Given the description of an element on the screen output the (x, y) to click on. 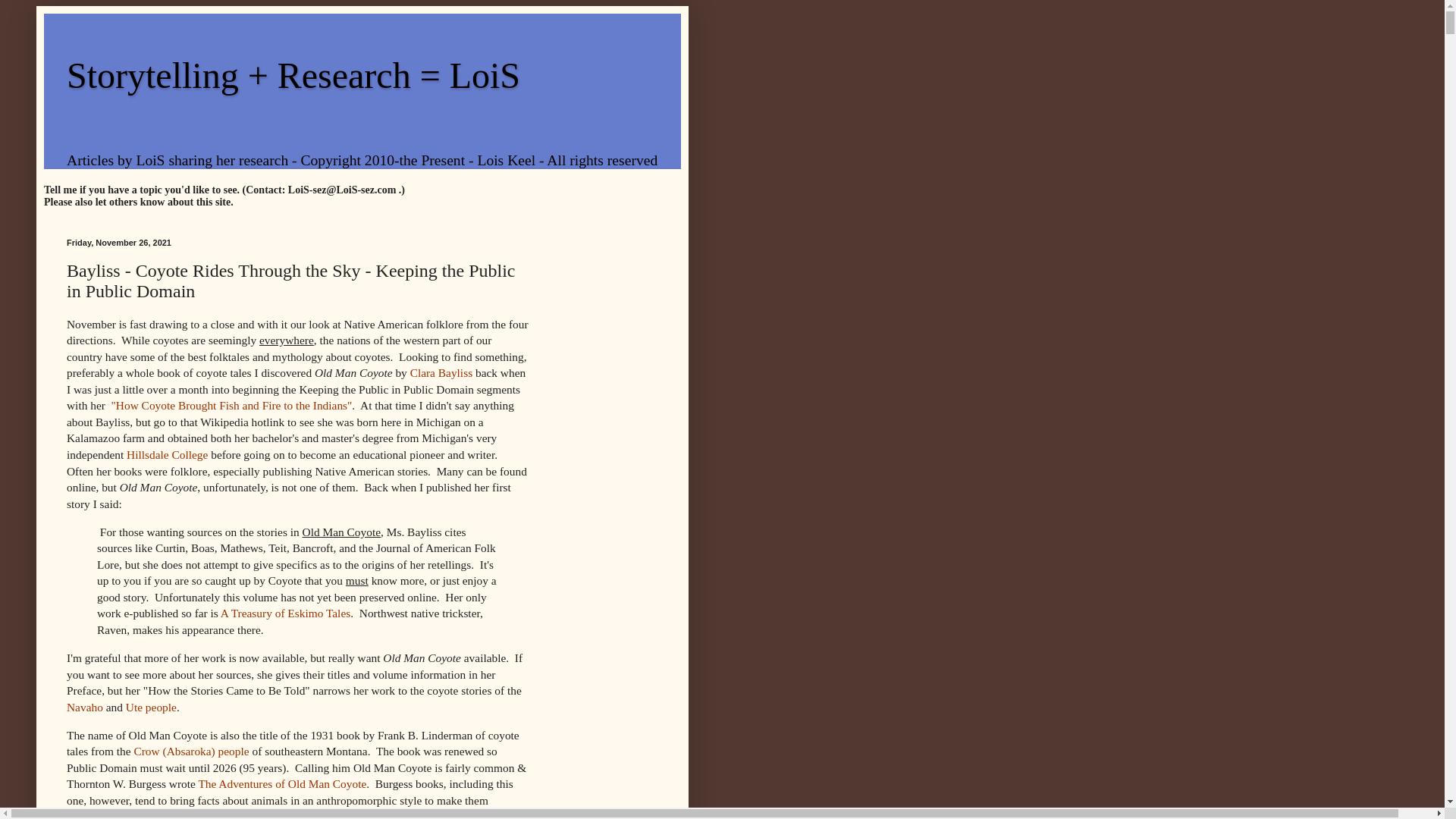
The Adventures of Old Man Coyote (282, 783)
"How Coyote Brought Fish and Fire to the Indians" (232, 404)
Hillsdale College (167, 454)
Navaho (84, 707)
A Treasury of Eskimo Tales (285, 612)
Clara Bayliss (441, 372)
Ute people (150, 707)
